Given the description of an element on the screen output the (x, y) to click on. 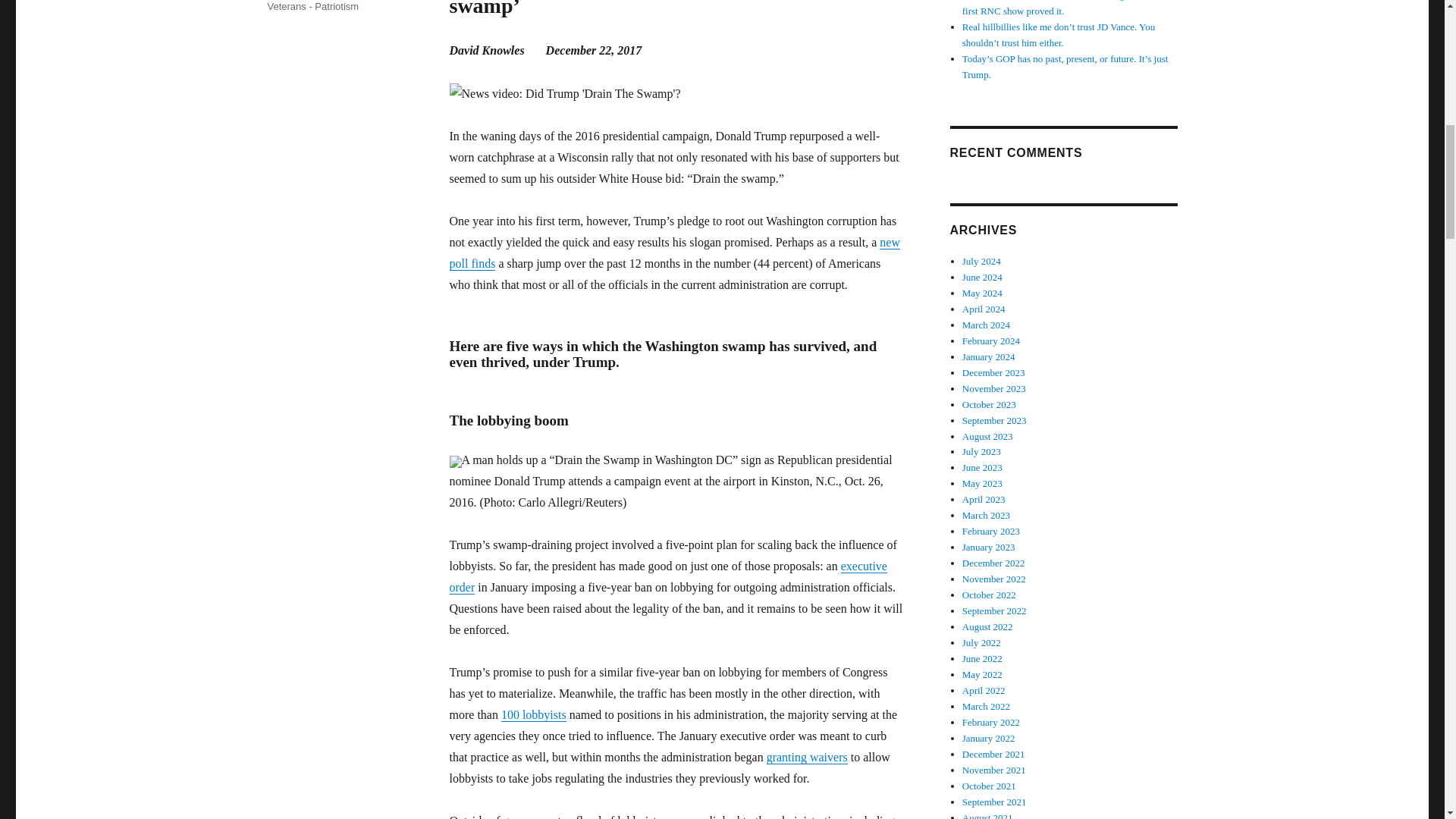
granting waivers (807, 757)
100 lobbyists (533, 714)
executive order (667, 576)
new poll finds (673, 252)
Veterans - Patriotism (312, 6)
